Given the description of an element on the screen output the (x, y) to click on. 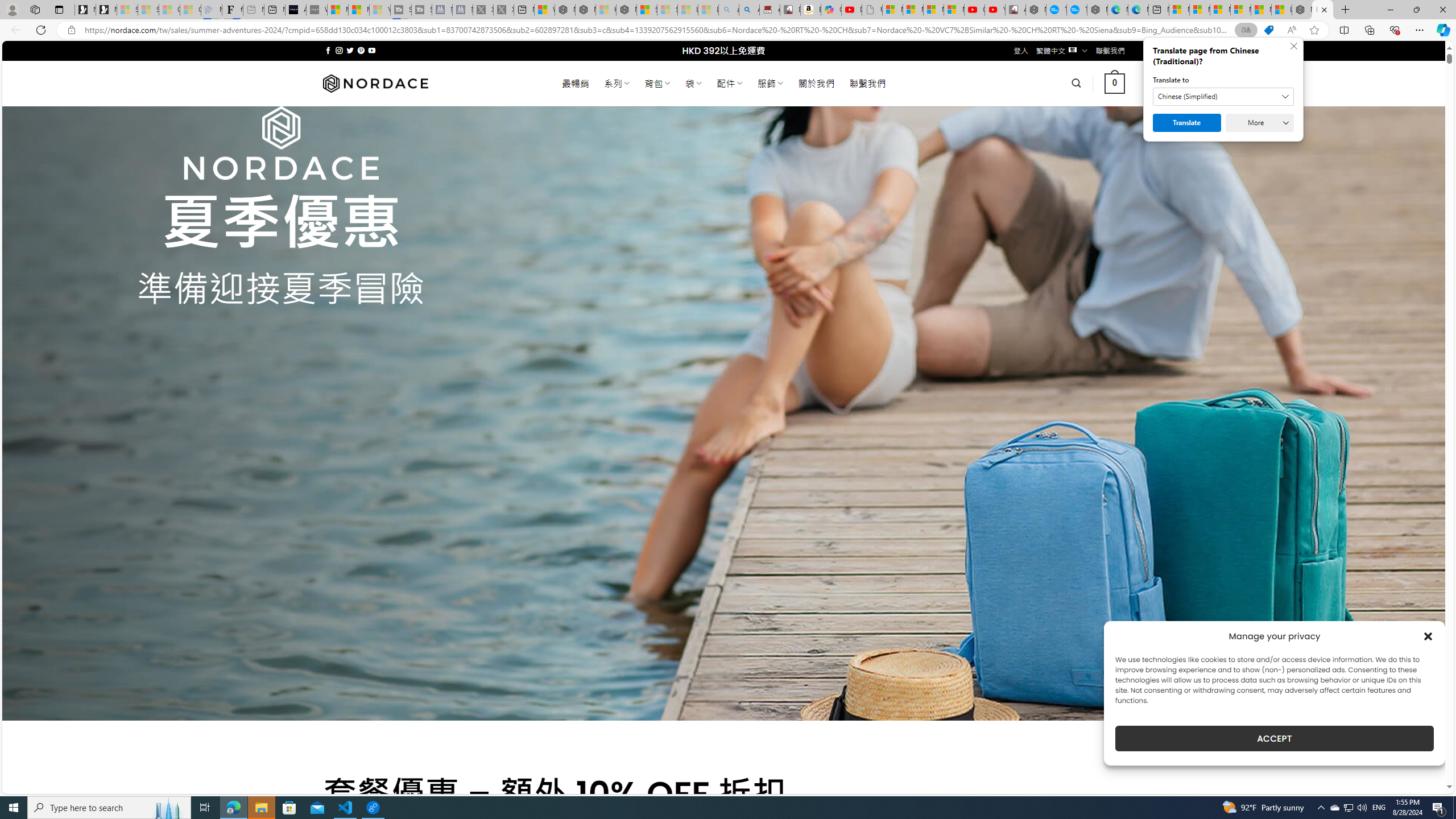
This site has coupons! Shopping in Microsoft Edge (1268, 29)
ACCEPT (1274, 738)
Untitled (871, 9)
Copilot (830, 9)
